Given the description of an element on the screen output the (x, y) to click on. 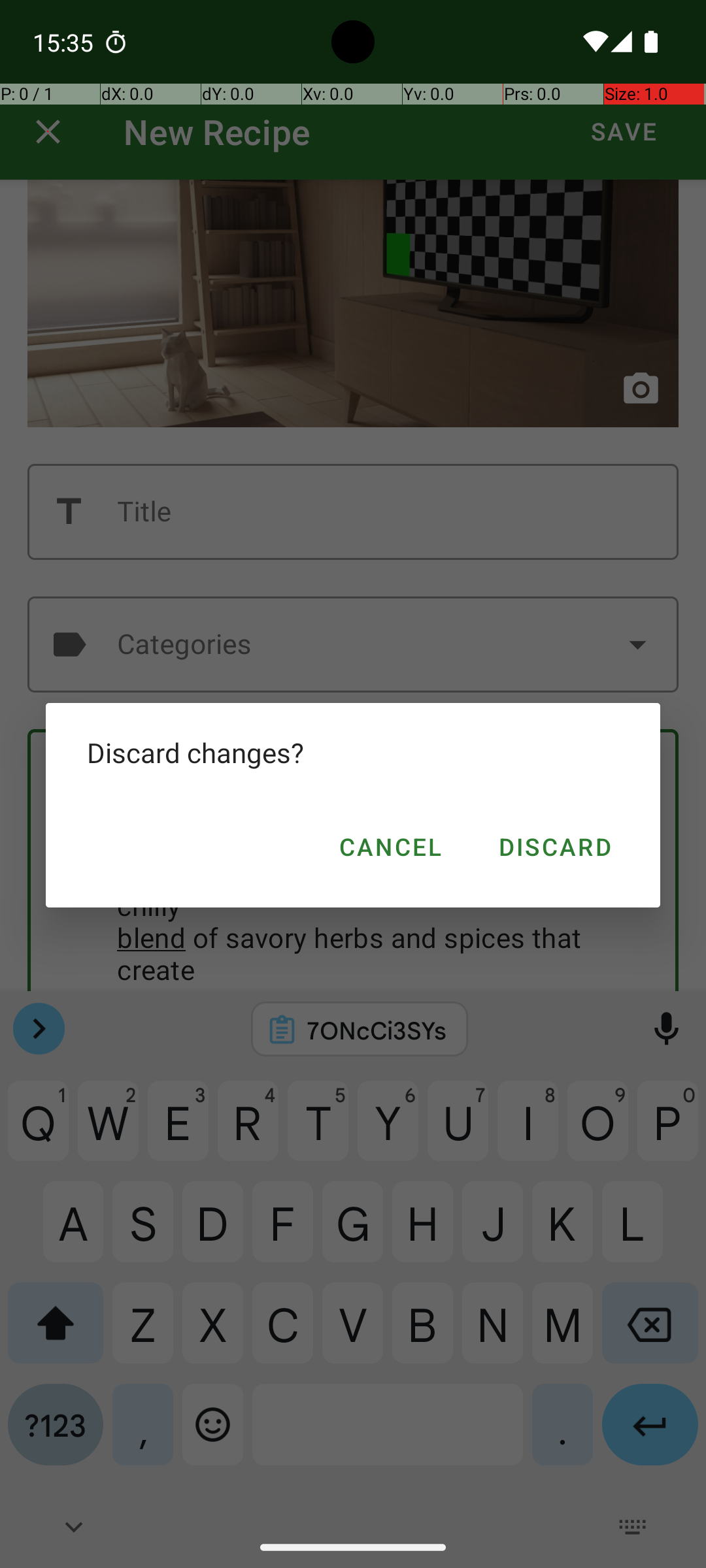
Discard changes? Element type: android.widget.TextView (352, 751)
DISCARD Element type: android.widget.Button (554, 846)
